Given the description of an element on the screen output the (x, y) to click on. 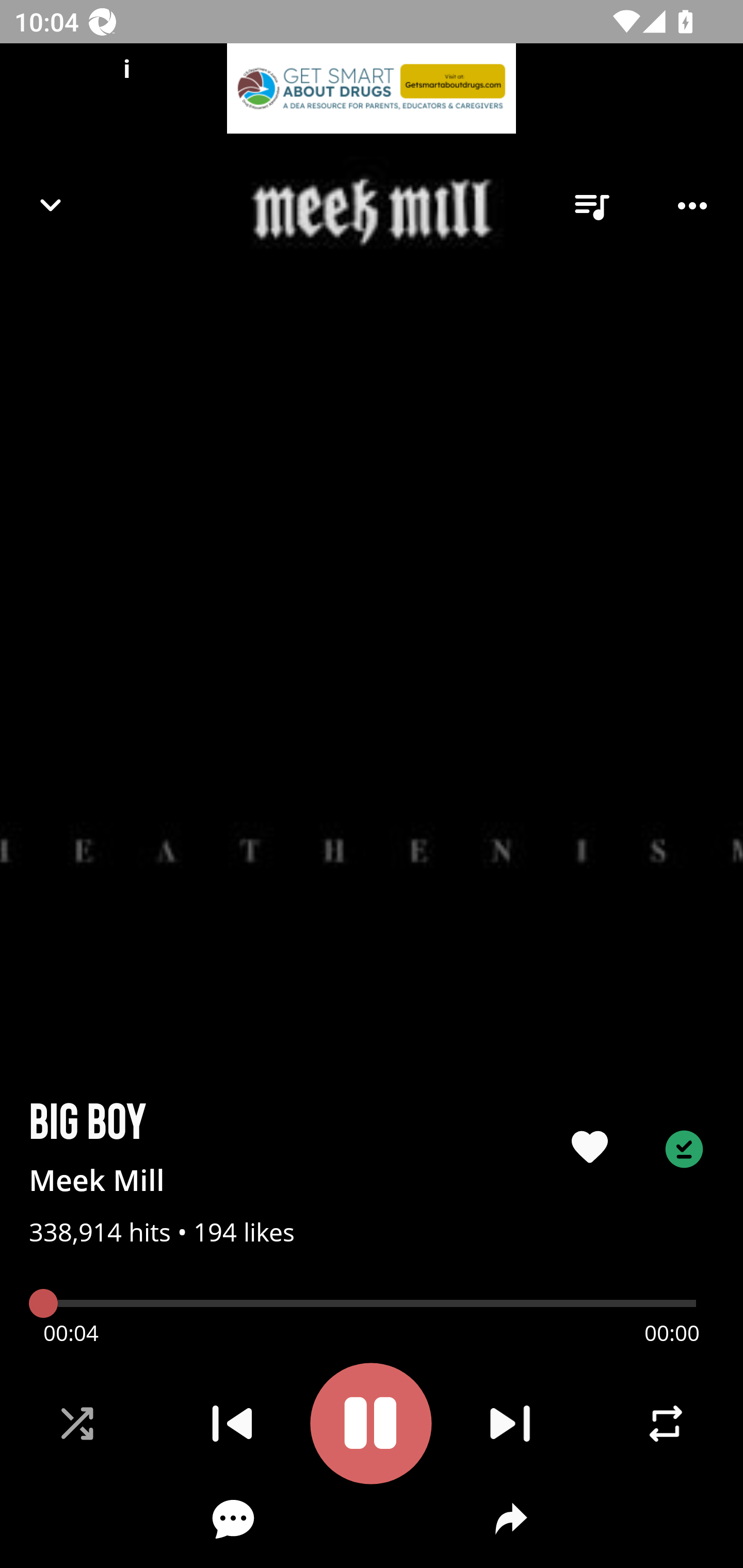
Navigate up (50, 205)
queue (590, 206)
Player options (692, 206)
